Given the description of an element on the screen output the (x, y) to click on. 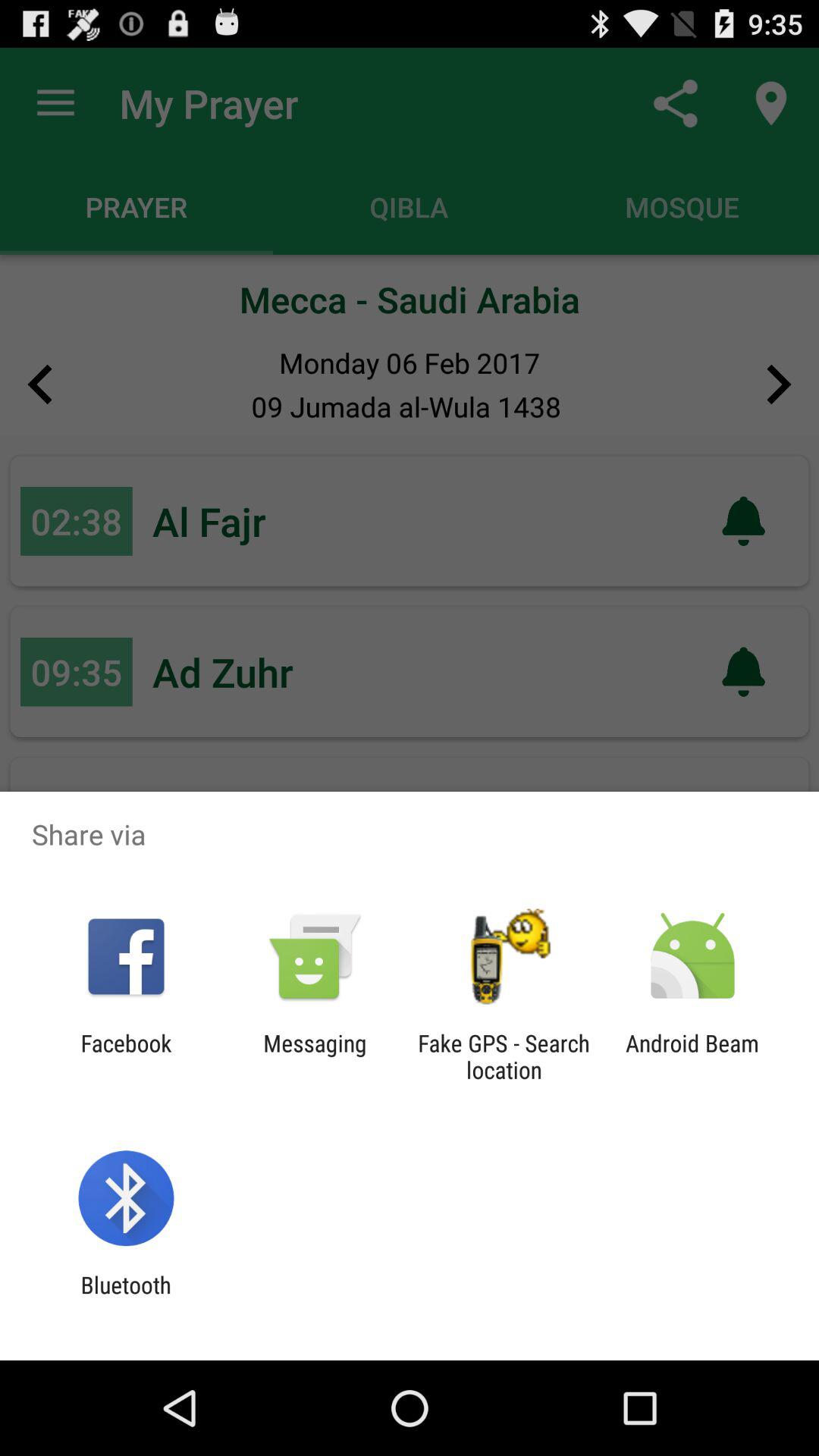
turn off item to the left of android beam app (503, 1056)
